Given the description of an element on the screen output the (x, y) to click on. 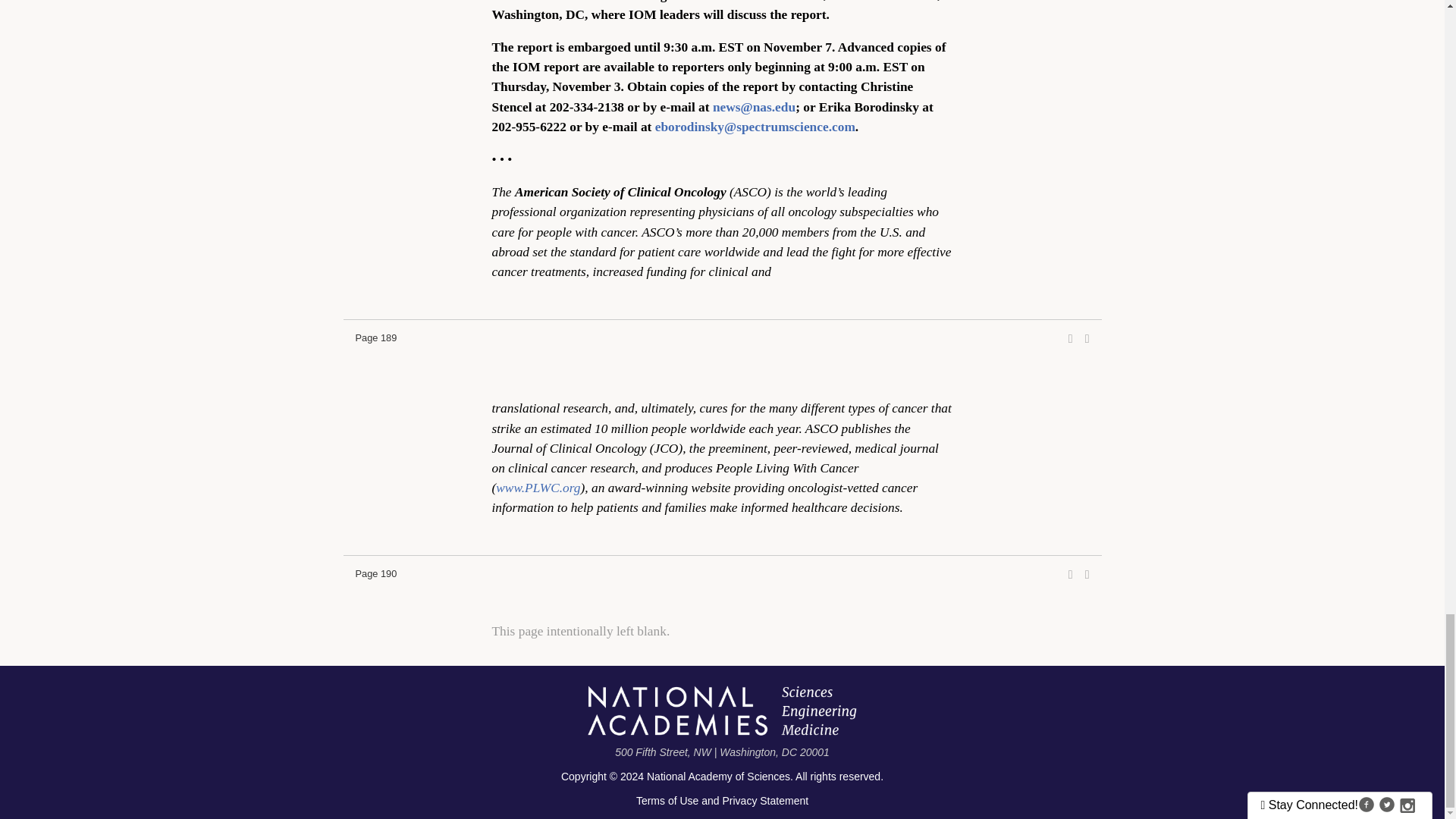
www.PLWC.org (537, 487)
